Given the description of an element on the screen output the (x, y) to click on. 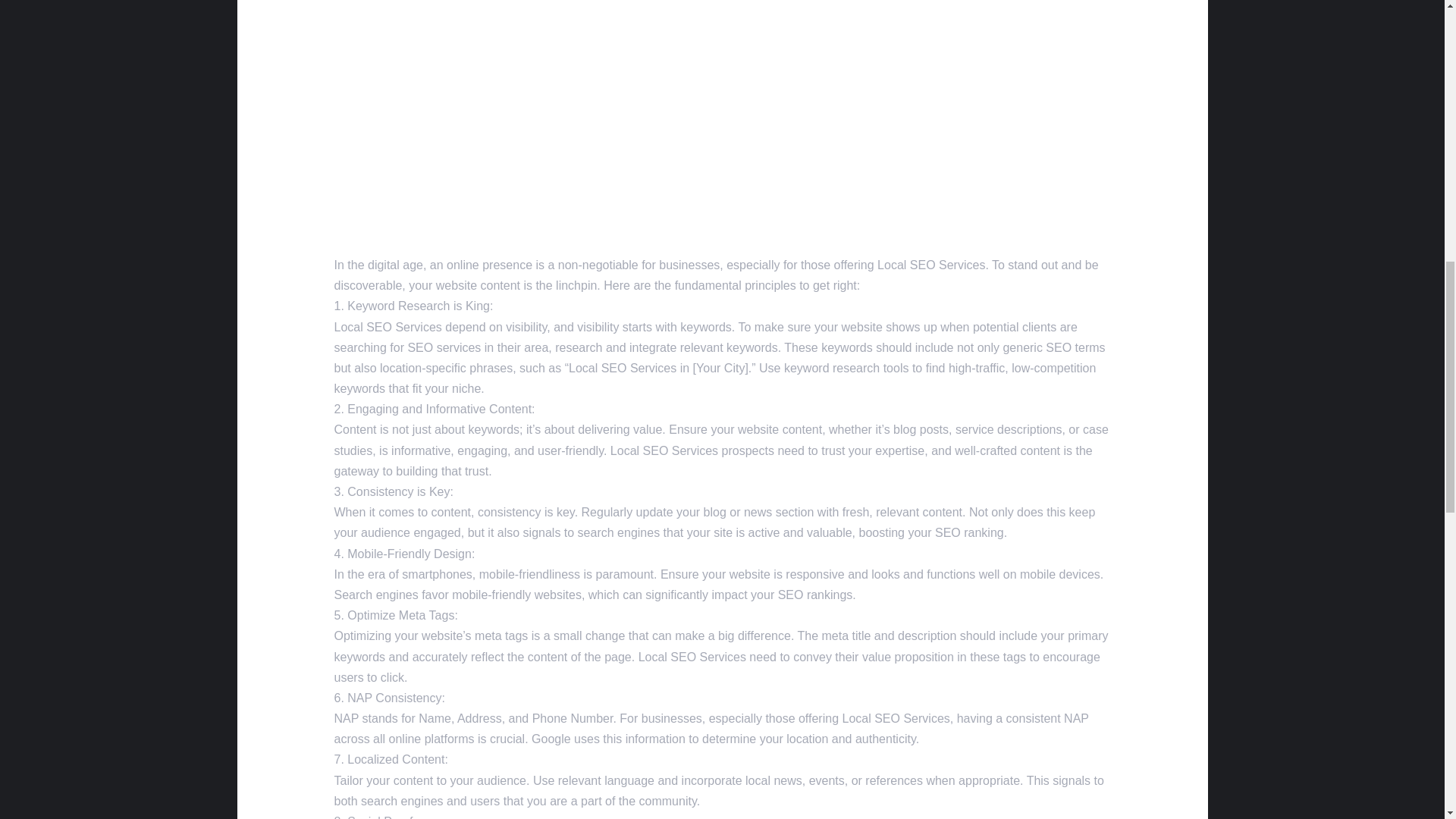
Local SEO Services Provo UT (721, 54)
